Given the description of an element on the screen output the (x, y) to click on. 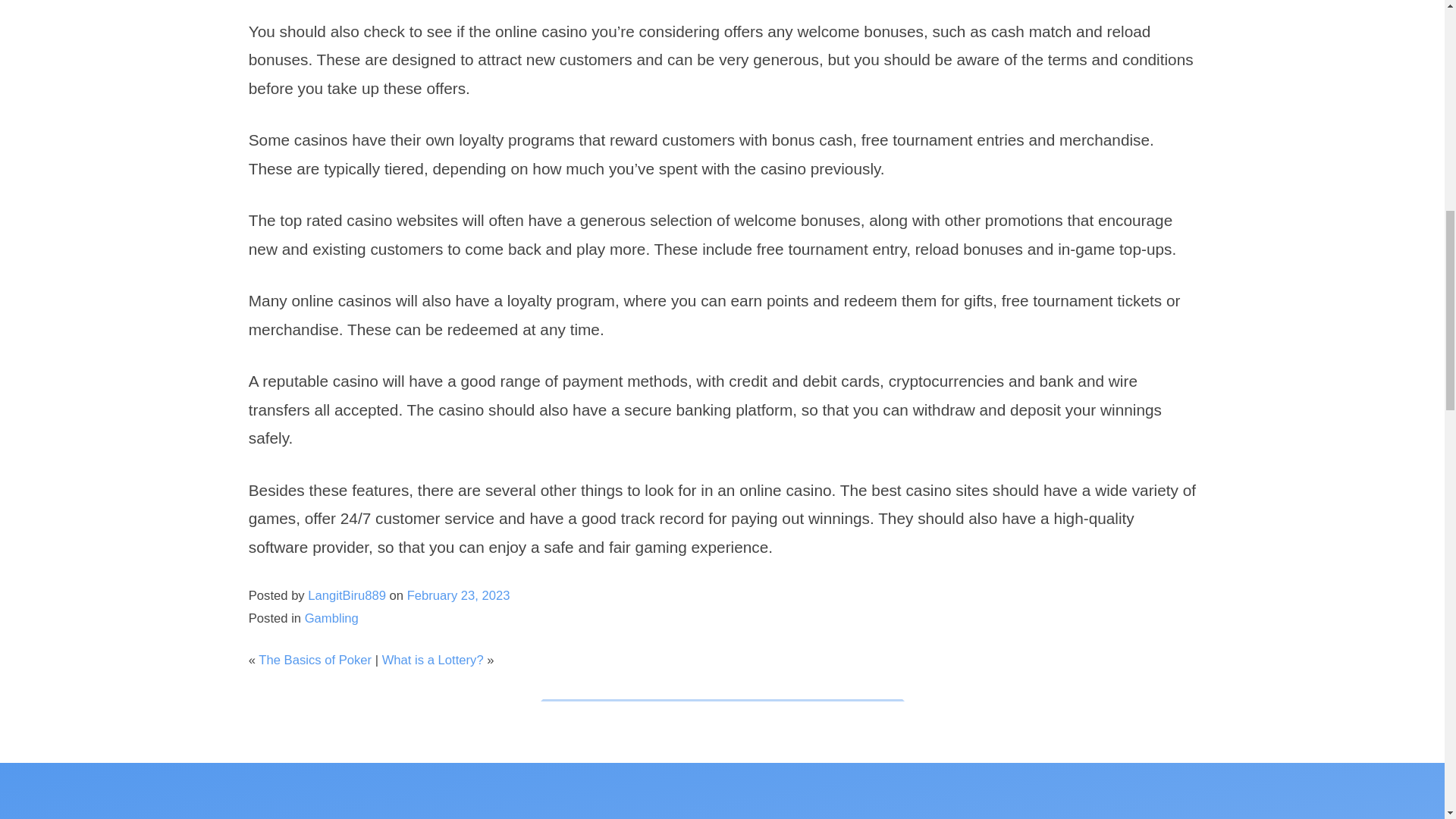
Gambling (331, 617)
February 23, 2023 (459, 595)
LangitBiru889 (346, 595)
What is a Lottery? (432, 659)
The Basics of Poker (315, 659)
